Given the description of an element on the screen output the (x, y) to click on. 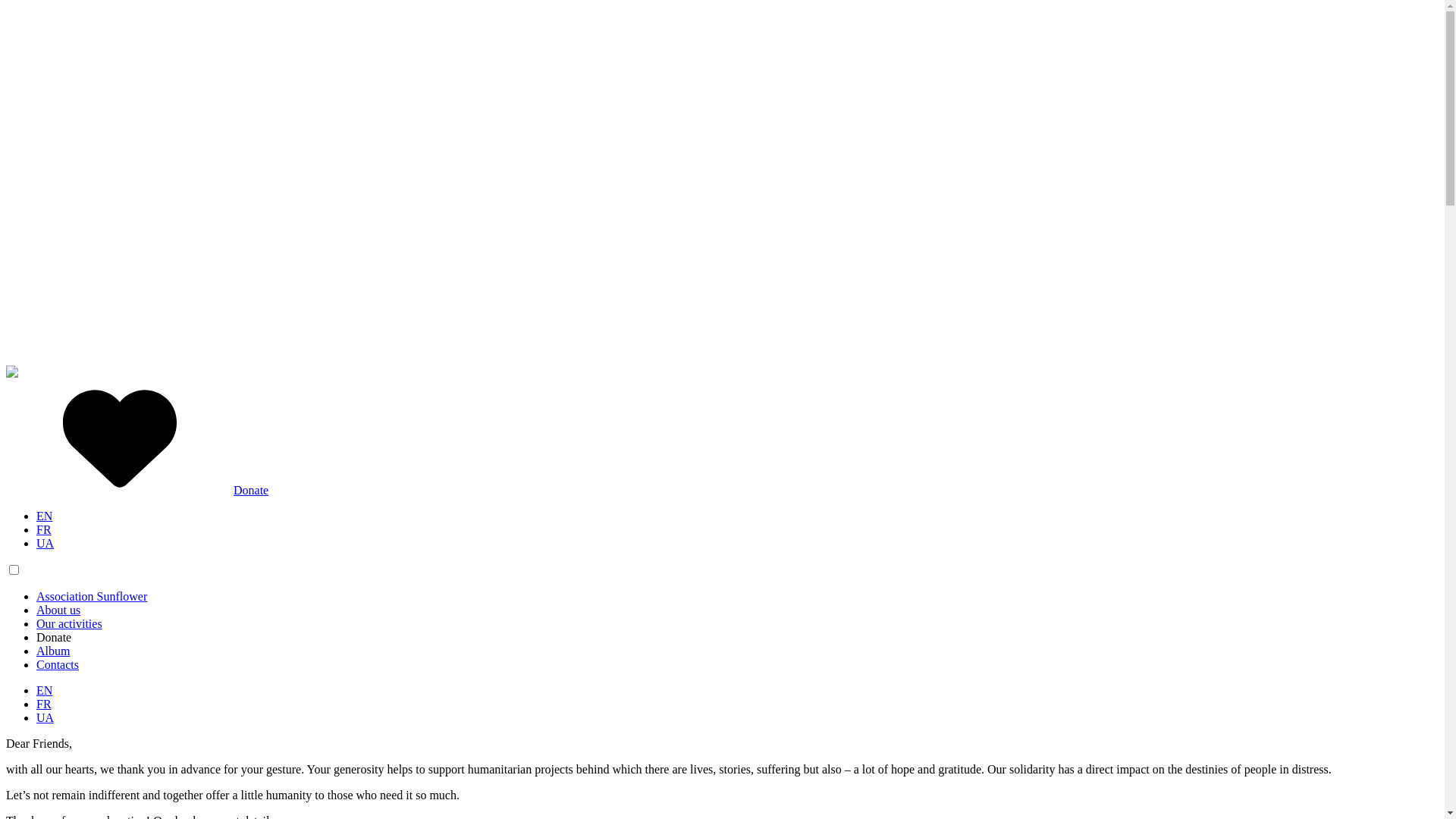
FR Element type: text (43, 703)
UA Element type: text (44, 717)
Album Element type: text (52, 650)
Donate Element type: text (53, 636)
Association Sunflower Element type: text (91, 595)
Donate Element type: text (137, 489)
About us Element type: text (58, 609)
EN Element type: text (44, 515)
EN Element type: text (44, 690)
FR Element type: text (43, 529)
Our activities Element type: text (69, 623)
Contacts Element type: text (57, 664)
UA Element type: text (44, 542)
